Given the description of an element on the screen output the (x, y) to click on. 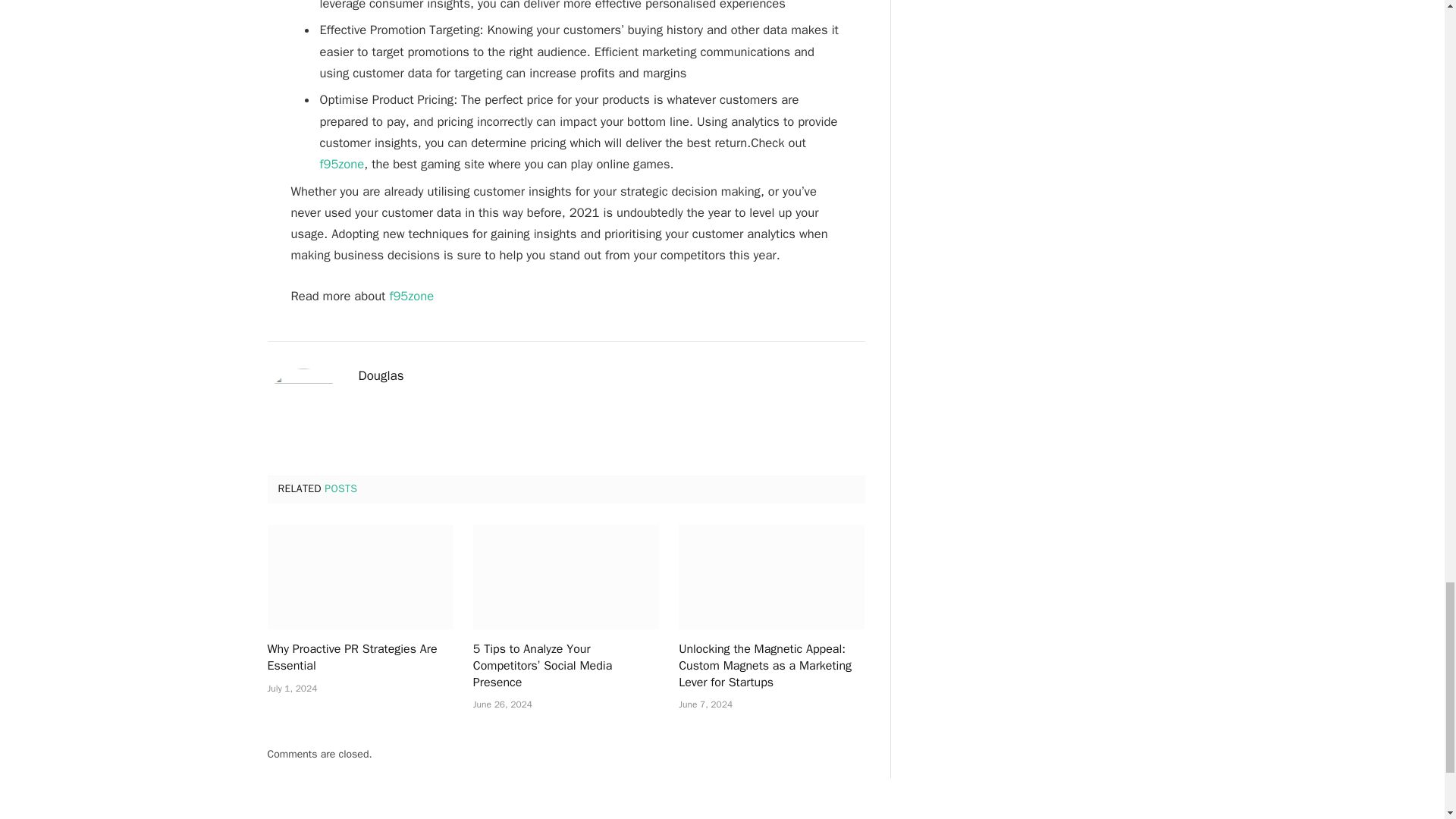
f95zone (342, 163)
Posts by Douglas (380, 376)
Why Proactive PR Strategies Are Essential (359, 576)
Douglas (380, 376)
Why Proactive PR Strategies Are Essential (359, 657)
f95zone (409, 295)
